Given the description of an element on the screen output the (x, y) to click on. 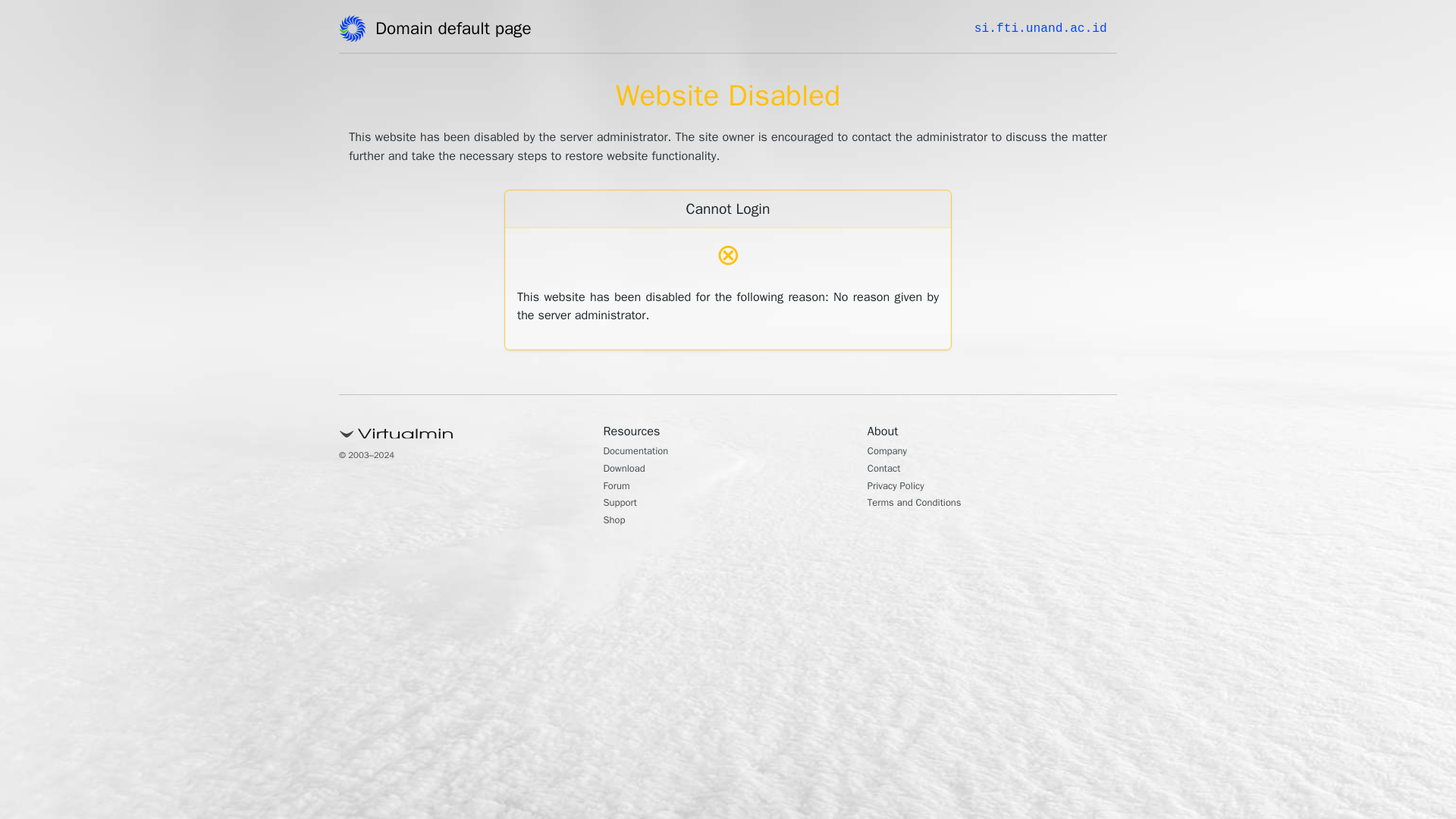
Download (629, 469)
Forum (620, 487)
Documentation (644, 452)
Support (624, 503)
Domain default page (457, 31)
Shop (617, 521)
Privacy Policy (902, 487)
Company (891, 452)
Contact (887, 469)
Terms and Conditions (925, 503)
